Given the description of an element on the screen output the (x, y) to click on. 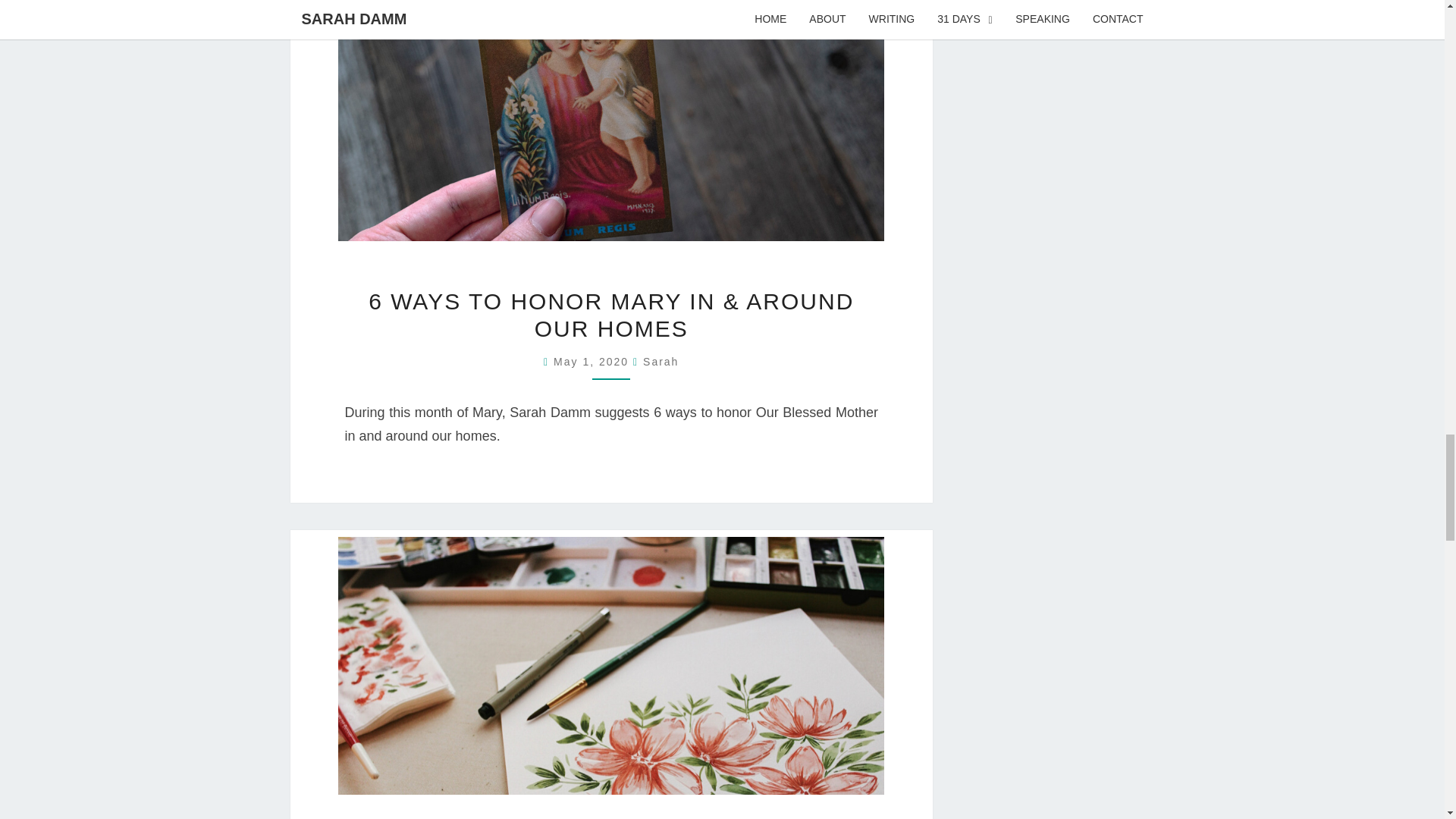
Sarah (660, 361)
May 1, 2020 (593, 361)
3:46 pm (593, 361)
View all posts by Sarah (660, 361)
